Given the description of an element on the screen output the (x, y) to click on. 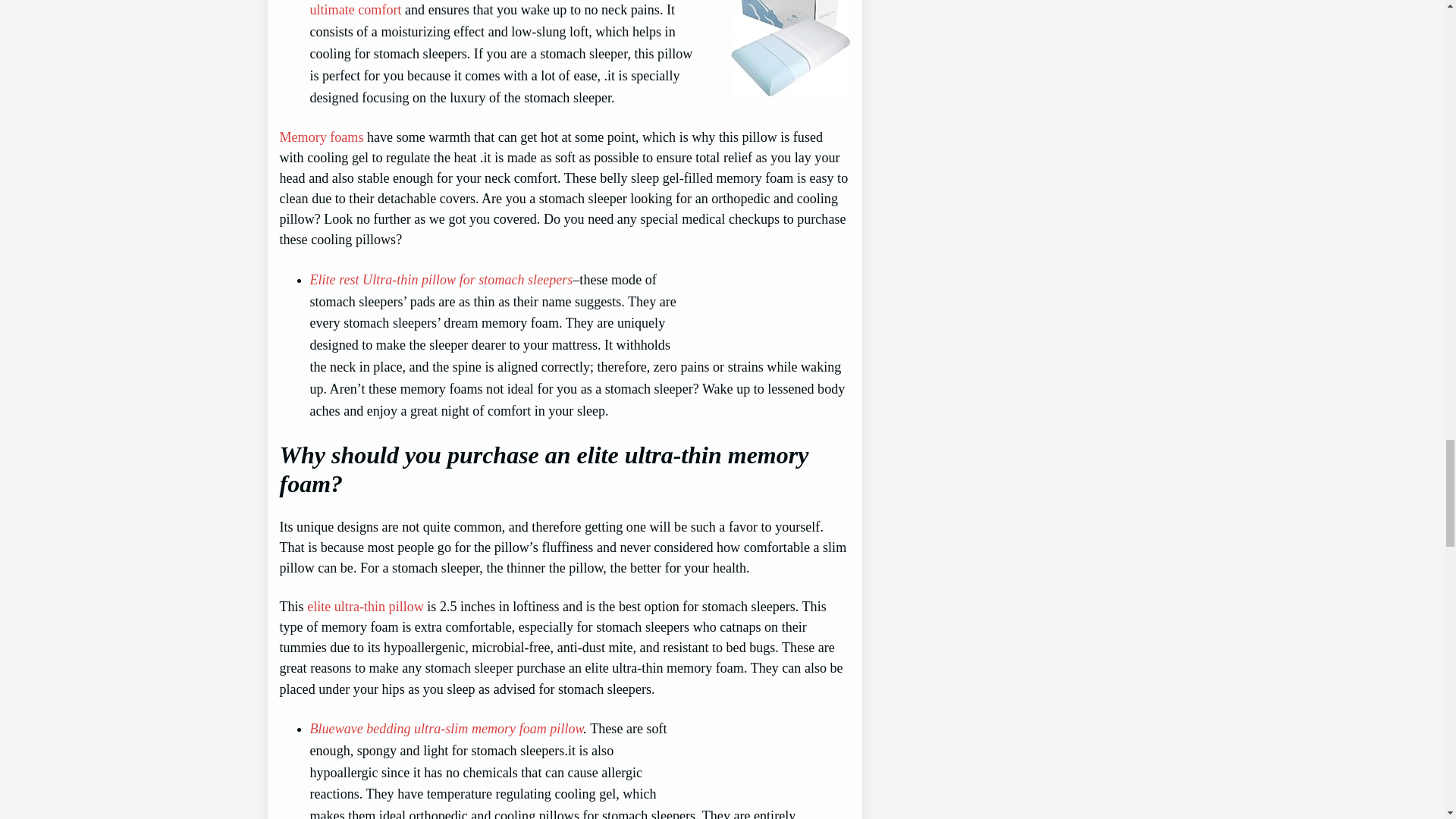
elite ultra-thin pillow (365, 606)
pillow gives you ultimate comfort (484, 8)
Bluewave bedding ultra-slim memory foam pillow (445, 728)
Memory foams (320, 136)
Elite rest Ultra-thin pillow for stomach sleepers (440, 279)
